Given the description of an element on the screen output the (x, y) to click on. 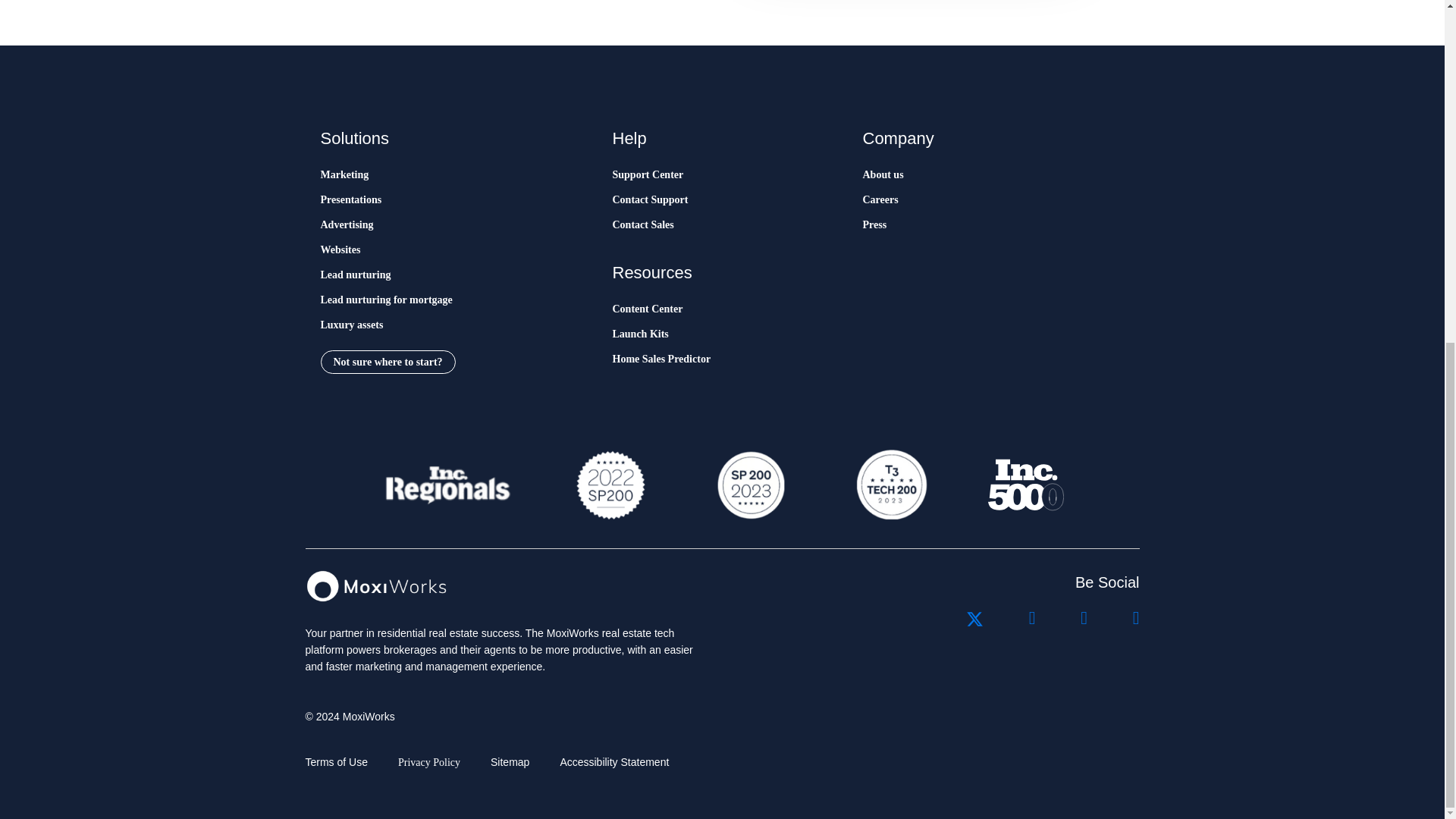
SP 2023 (749, 484)
SP 2022 (610, 484)
T3 tech 200 2023 (890, 484)
